Given the description of an element on the screen output the (x, y) to click on. 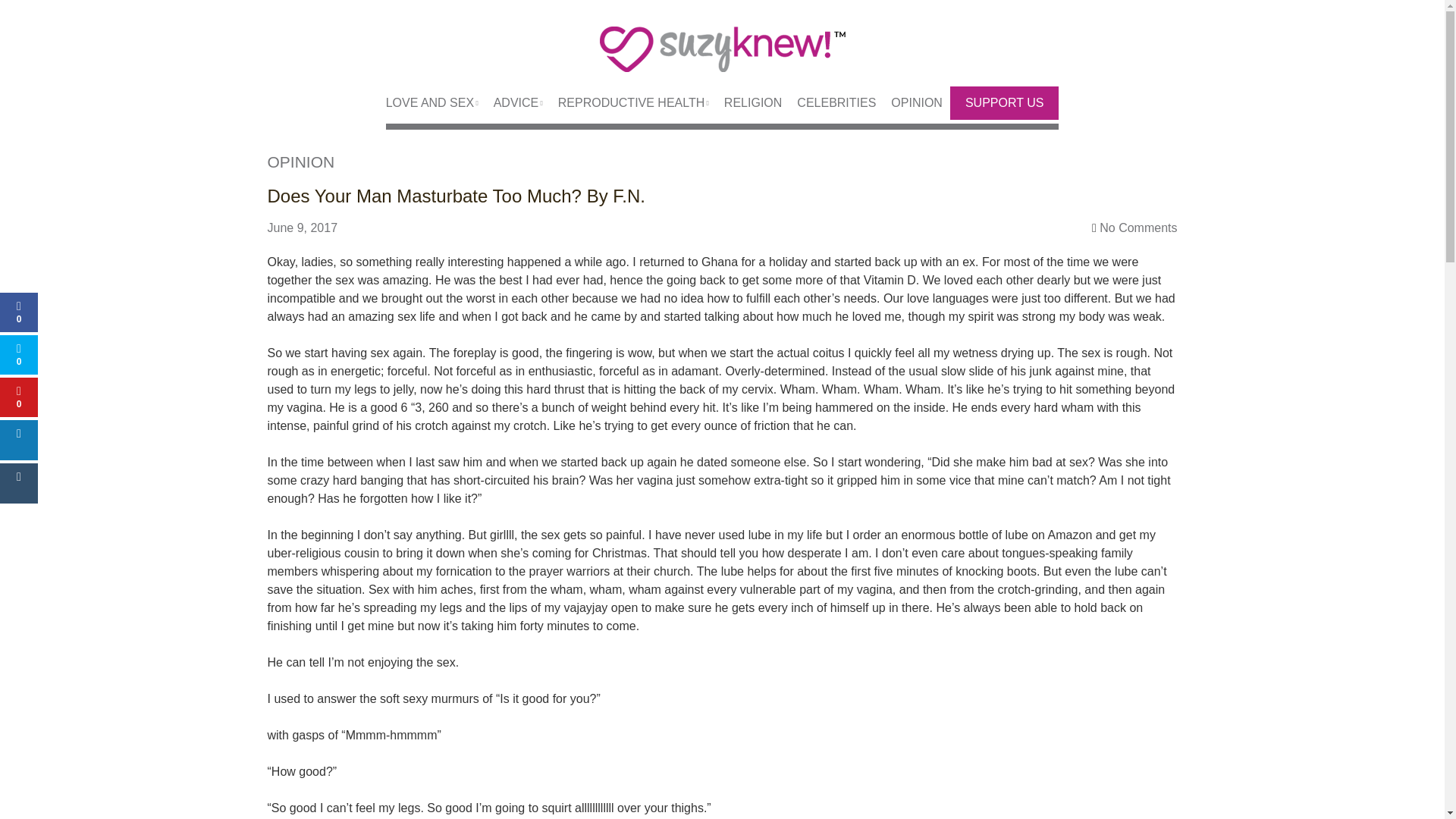
OPINION (300, 161)
No Comments (1137, 227)
ADVICE (511, 103)
CELEBRITIES (828, 103)
OPINION (909, 103)
SUPPORT US (1004, 102)
REPRODUCTIVE HEALTH (626, 103)
LOVE AND SEX (432, 103)
SuzyKnew (721, 58)
June 9, 2017 (309, 227)
RELIGION (745, 103)
Comment on Does Your Man Masturbate Too Much? By F.N. (1137, 227)
